Given the description of an element on the screen output the (x, y) to click on. 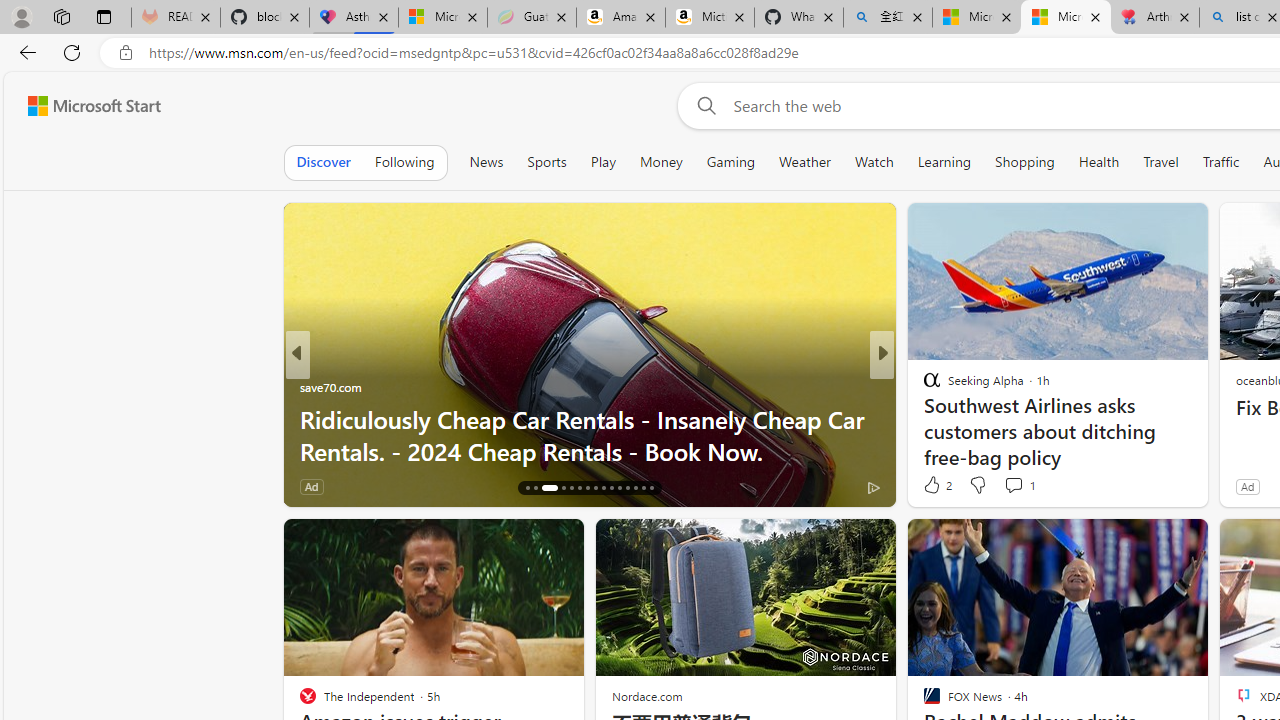
AutomationID: tab-16 (527, 487)
View comments 7 Comment (1019, 485)
Learning (944, 162)
125 Like (936, 486)
AutomationID: tab-25 (610, 487)
Skip to footer (82, 105)
News (486, 161)
Personal Profile (21, 16)
Traffic (1220, 162)
Travel (1160, 161)
Microsoft-Report a Concern to Bing (443, 17)
Scripps News (923, 386)
Nordace.com (646, 696)
